Given the description of an element on the screen output the (x, y) to click on. 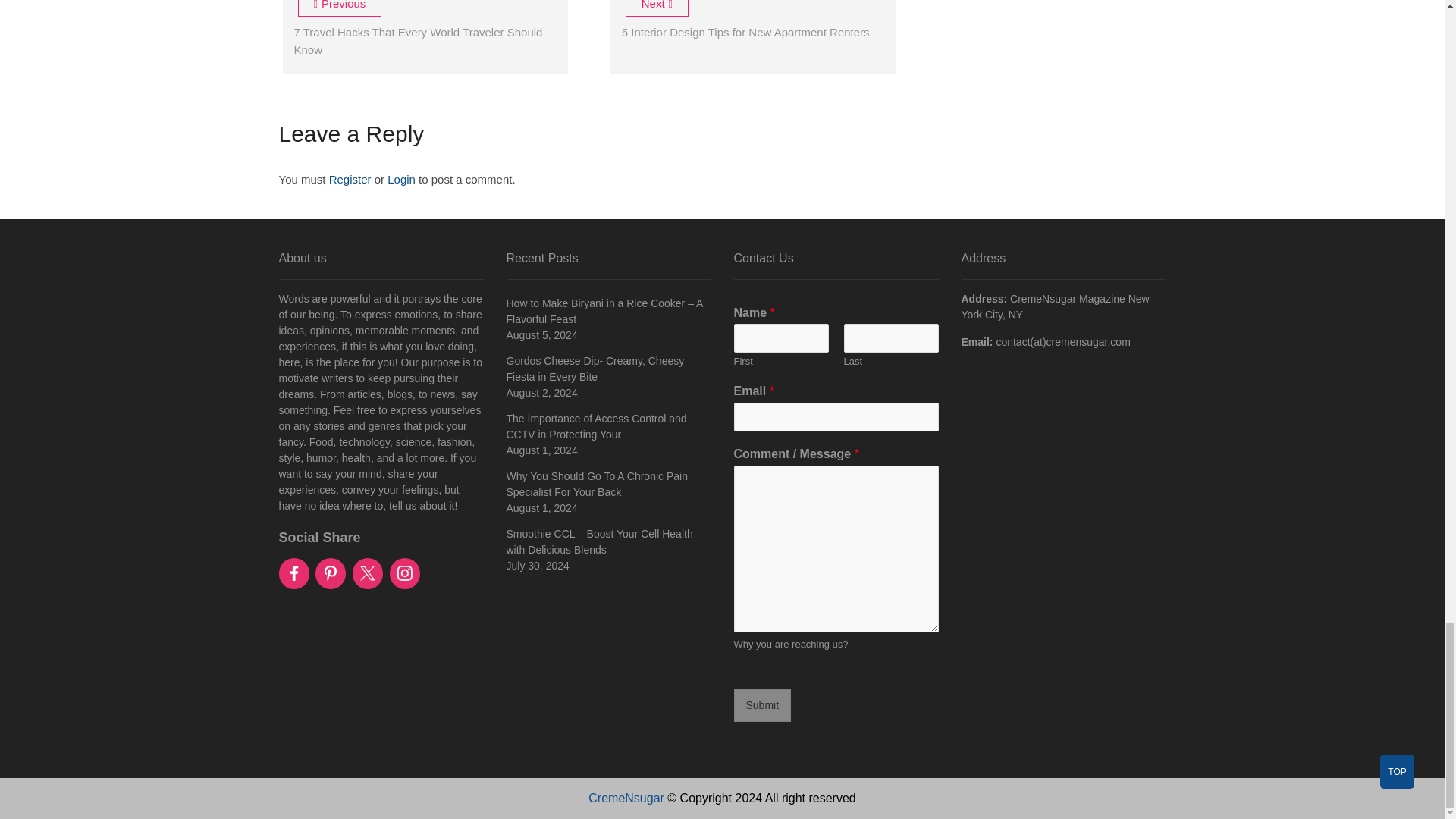
CremeNsugar (625, 797)
